Given the description of an element on the screen output the (x, y) to click on. 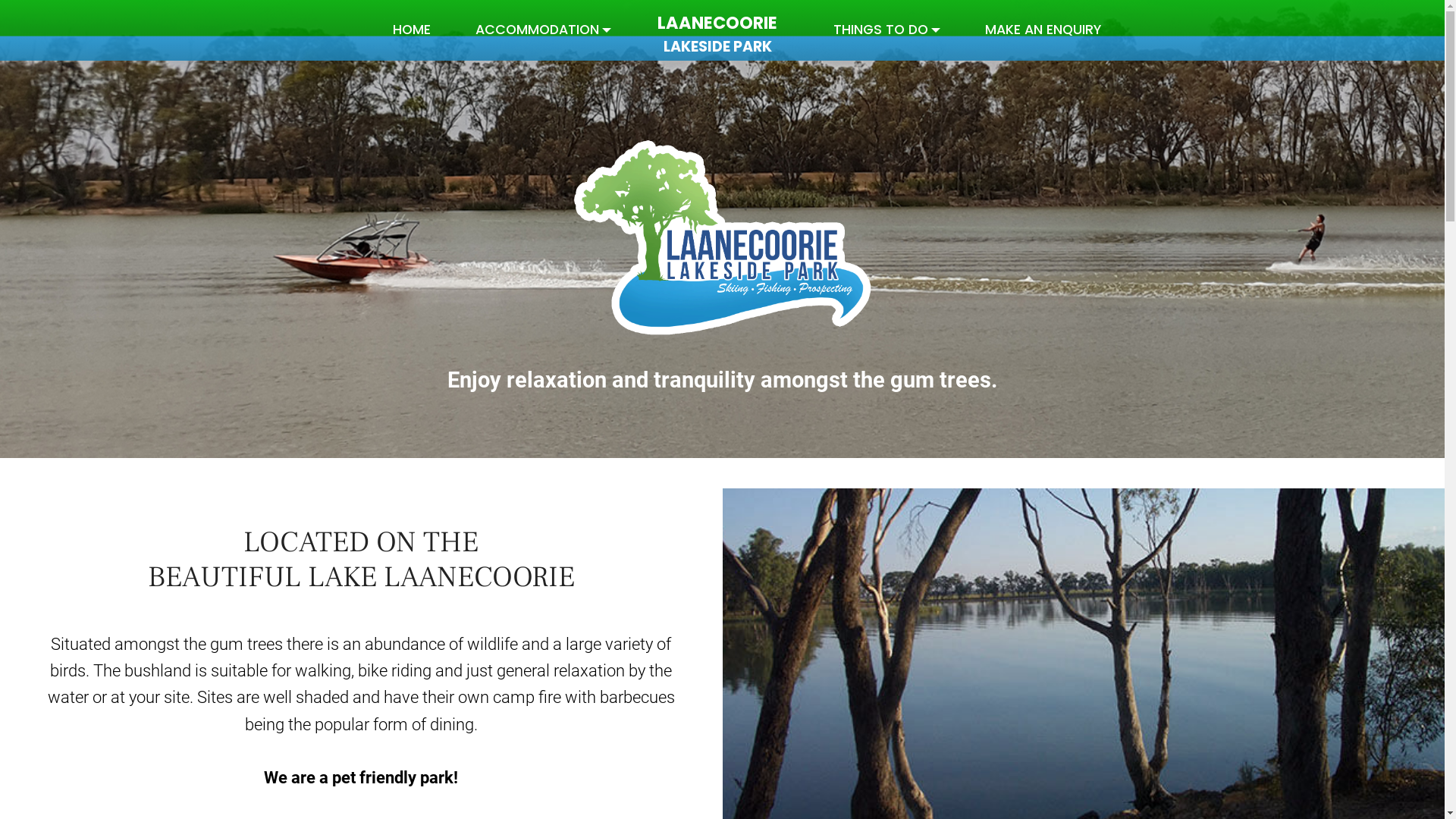
LAANECOORIE
LAKESIDE PARK Element type: text (717, 30)
THINGS TO DO Element type: text (886, 30)
ACCOMMODATION Element type: text (543, 30)
MAKE AN ENQUIRY Element type: text (1043, 30)
HOME Element type: text (411, 30)
